Given the description of an element on the screen output the (x, y) to click on. 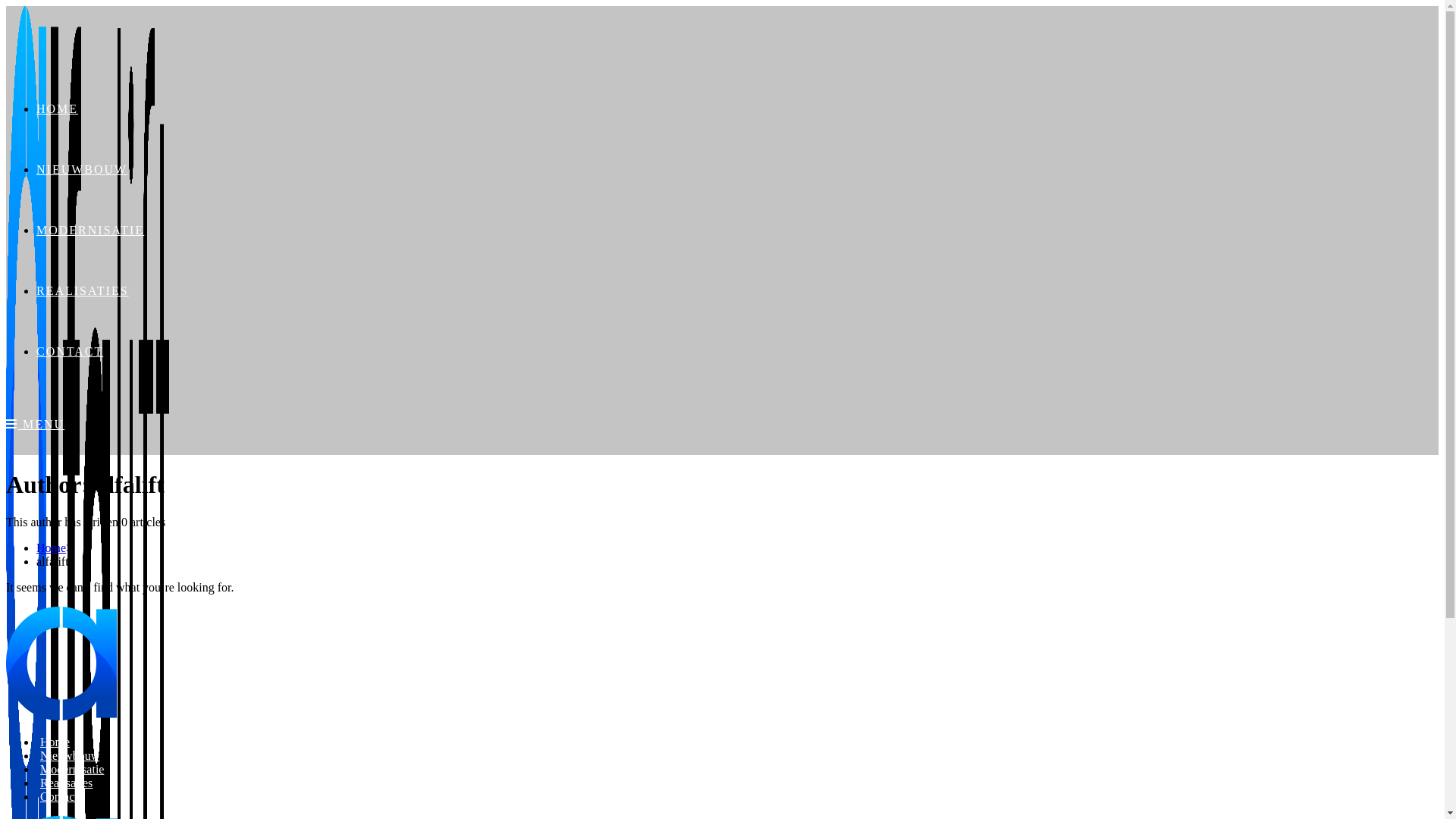
CONTACT Element type: text (69, 351)
Nieuwbouw Element type: text (69, 755)
NIEUWBOUW Element type: text (81, 169)
MODERNISATIE Element type: text (90, 229)
Home Element type: text (50, 547)
Home Element type: text (54, 741)
MENU Element type: text (35, 423)
REALISATIES Element type: text (82, 290)
Realisaties Element type: text (66, 782)
Contact Element type: text (58, 796)
Modernisatie Element type: text (71, 769)
HOME Element type: text (57, 108)
